Given the description of an element on the screen output the (x, y) to click on. 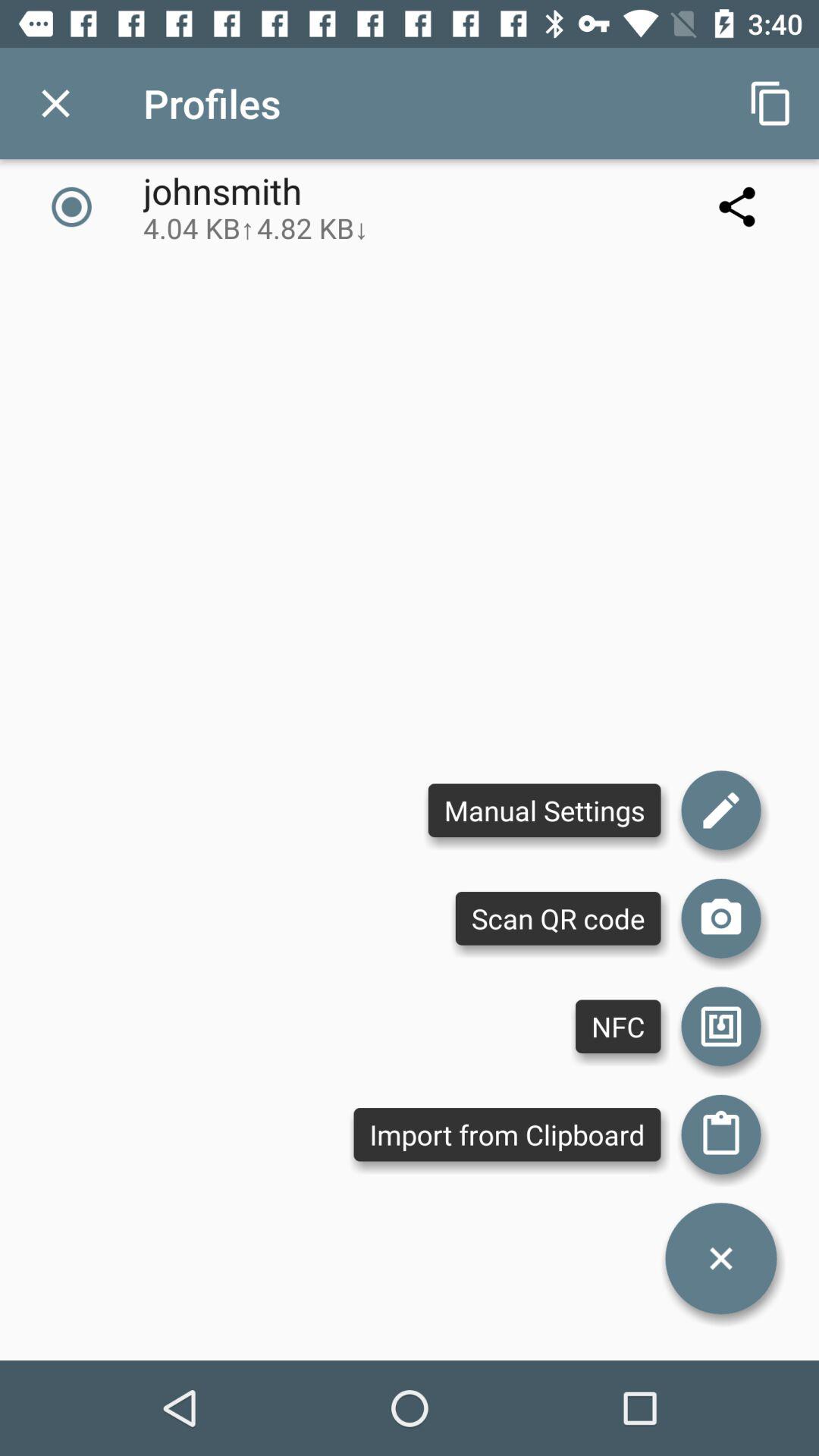
tap the icon to the right of the manual settings item (721, 918)
